Given the description of an element on the screen output the (x, y) to click on. 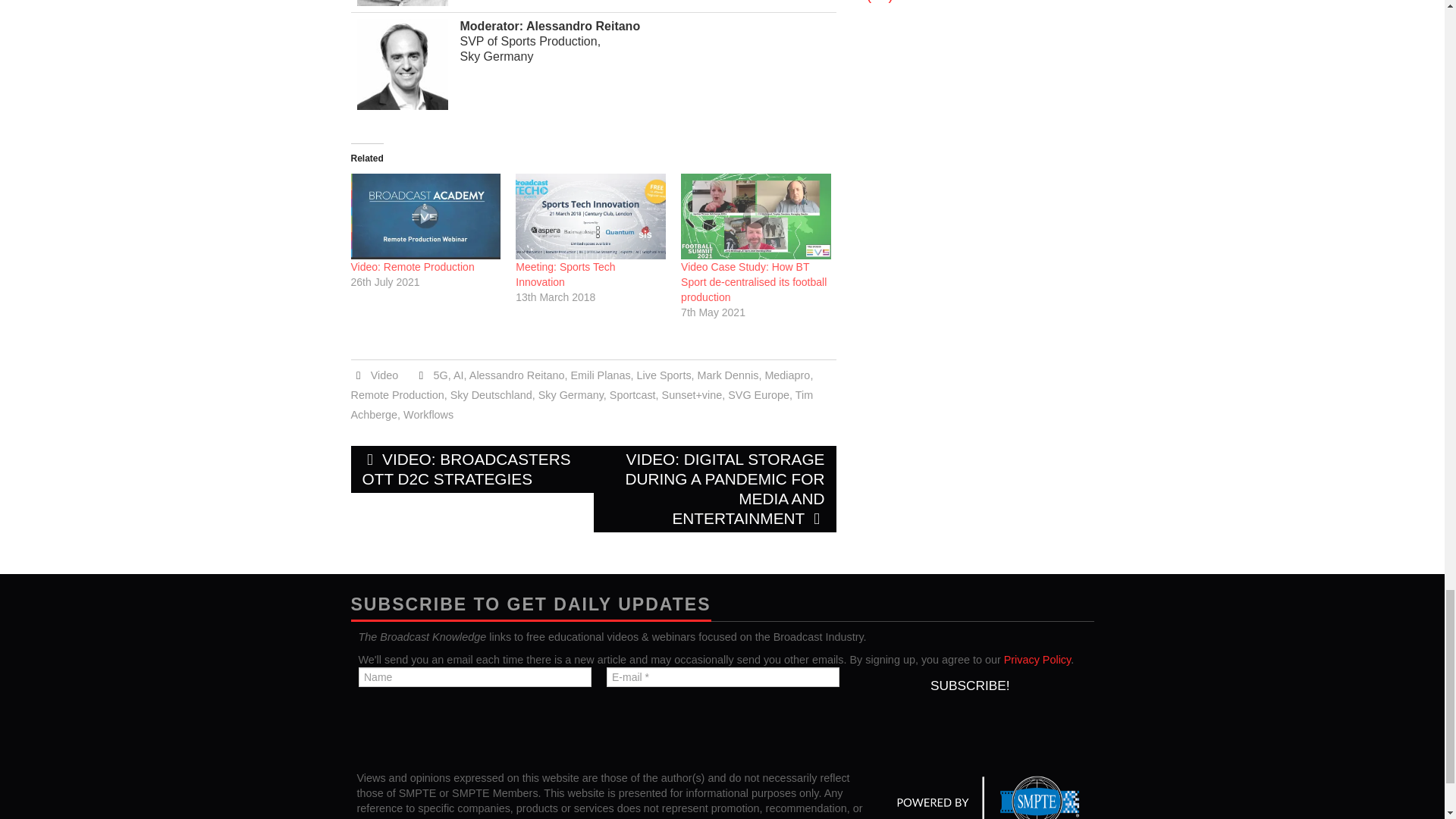
Emili Planas (600, 375)
Subscribe! (969, 685)
Workflows (427, 414)
Mediapro (786, 375)
Sky Deutschland (490, 395)
Video: Remote Production (412, 266)
Tim Achberge (581, 404)
Meeting: Sports Tech Innovation (564, 274)
Alessandro Reitano (516, 375)
Meeting: Sports Tech Innovation (590, 216)
Live Sports (664, 375)
Meeting: Sports Tech Innovation (564, 274)
SVG Europe (758, 395)
Video: Remote Production (412, 266)
